Given the description of an element on the screen output the (x, y) to click on. 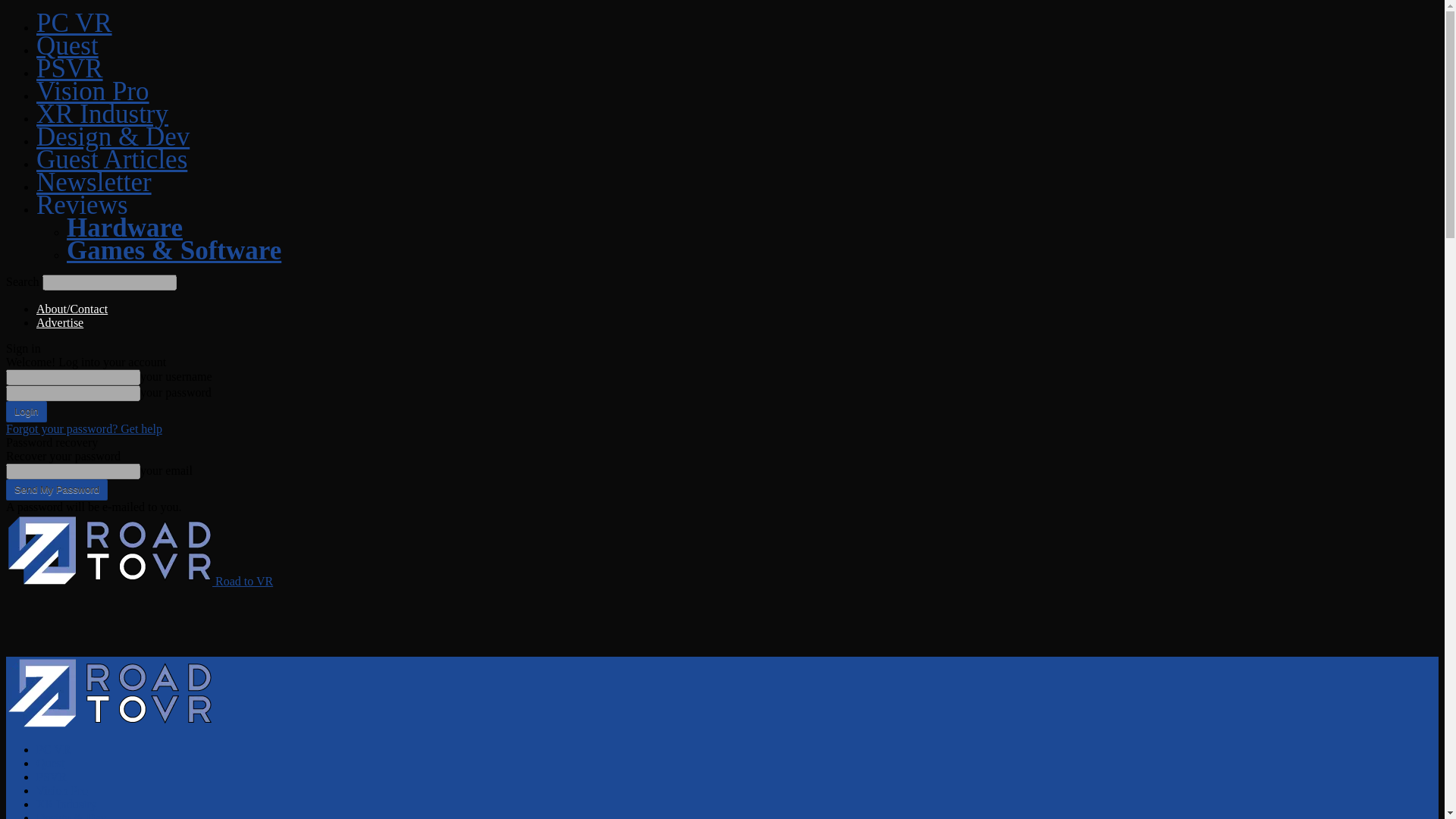
Road to VR (139, 581)
Newsletter (93, 182)
Quest (50, 762)
Advertise (59, 322)
PSVR (51, 776)
Send My Password (56, 489)
AR VR MR XR News (102, 113)
XR Industry (66, 803)
Vision Pro (61, 789)
Guest Articles (111, 159)
Reviews (82, 205)
PSVR (69, 68)
Login (25, 411)
Hardware (124, 227)
Vision Pro (92, 91)
